Given the description of an element on the screen output the (x, y) to click on. 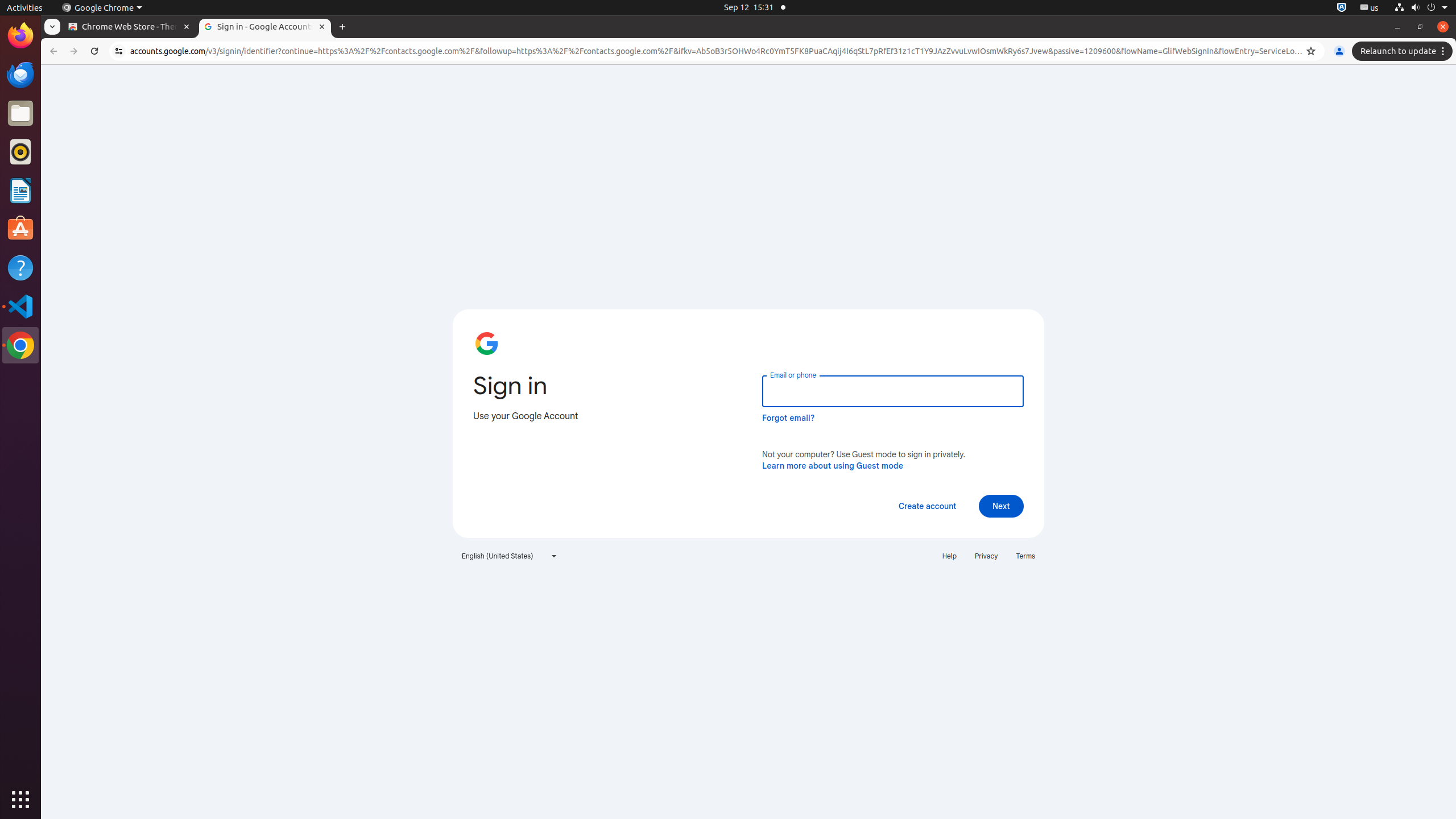
Terms Element type: link (1024, 556)
System Element type: menu (1420, 7)
Rhythmbox Element type: push-button (20, 151)
Files Element type: push-button (20, 113)
Sign in - Google Accounts Element type: page-tab (264, 26)
